Given the description of an element on the screen output the (x, y) to click on. 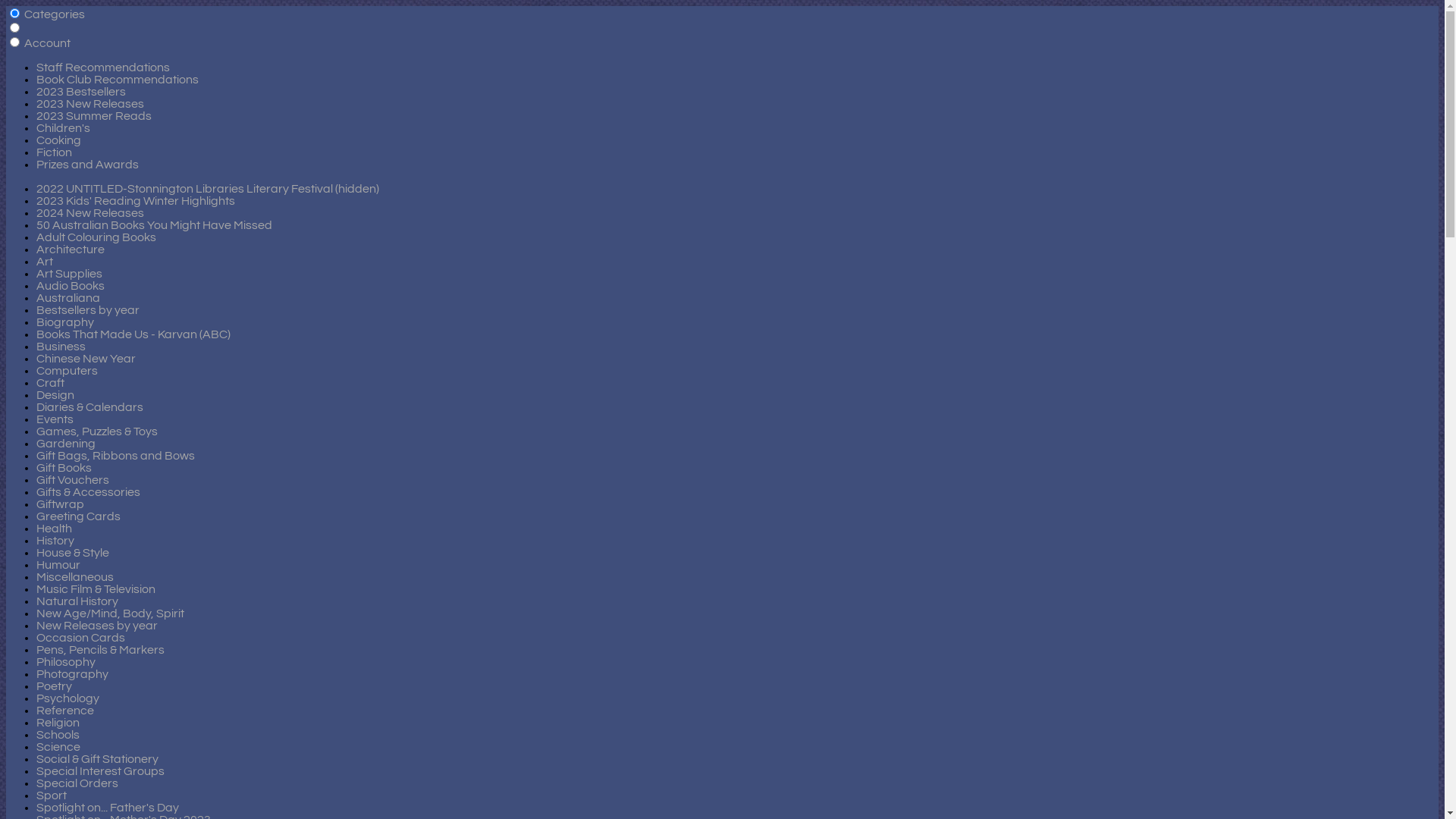
50 Australian Books You Might Have Missed Element type: text (154, 225)
Cooking Element type: text (58, 140)
Adult Colouring Books Element type: text (96, 237)
New Releases by year Element type: text (96, 625)
2024 New Releases Element type: text (90, 213)
Diaries & Calendars Element type: text (89, 407)
Gardening Element type: text (65, 443)
Poetry Element type: text (54, 686)
Occasion Cards Element type: text (80, 637)
Schools Element type: text (57, 734)
Gifts & Accessories Element type: text (88, 492)
Music Film & Television Element type: text (95, 589)
Social & Gift Stationery Element type: text (97, 759)
Children's Element type: text (63, 128)
Biography Element type: text (65, 322)
Art Supplies Element type: text (69, 273)
Business Element type: text (60, 346)
Gift Books Element type: text (63, 467)
Design Element type: text (55, 395)
Architecture Element type: text (70, 249)
Books That Made Us - Karvan (ABC) Element type: text (133, 334)
Giftwrap Element type: text (60, 504)
Chinese New Year Element type: text (85, 358)
Sport Element type: text (51, 795)
Australiana Element type: text (68, 297)
Prizes and Awards Element type: text (87, 164)
Psychology Element type: text (67, 698)
New Age/Mind, Body, Spirit Element type: text (110, 613)
Reference Element type: text (65, 710)
Greeting Cards Element type: text (78, 516)
Religion Element type: text (57, 722)
Photography Element type: text (72, 674)
Gift Vouchers Element type: text (72, 479)
Bestsellers by year Element type: text (87, 310)
2023 New Releases Element type: text (90, 103)
Games, Puzzles & Toys Element type: text (96, 431)
Science Element type: text (58, 746)
Philosophy Element type: text (65, 661)
Staff Recommendations Element type: text (102, 67)
2023 Kids' Reading Winter Highlights Element type: text (135, 200)
Fiction Element type: text (54, 152)
2023 Bestsellers Element type: text (80, 91)
Computers Element type: text (66, 370)
Special Orders Element type: text (77, 783)
Special Interest Groups Element type: text (100, 771)
Health Element type: text (54, 528)
Craft Element type: text (50, 382)
Spotlight on... Father's Day Element type: text (107, 807)
Art Element type: text (44, 261)
Pens, Pencils & Markers Element type: text (100, 649)
History Element type: text (55, 540)
Book Club Recommendations Element type: text (117, 79)
2023 Summer Reads Element type: text (93, 115)
Audio Books Element type: text (70, 285)
Gift Bags, Ribbons and Bows Element type: text (115, 455)
House & Style Element type: text (72, 552)
Humour Element type: text (58, 564)
Natural History Element type: text (77, 601)
Miscellaneous Element type: text (74, 577)
Events Element type: text (54, 419)
